Given the description of an element on the screen output the (x, y) to click on. 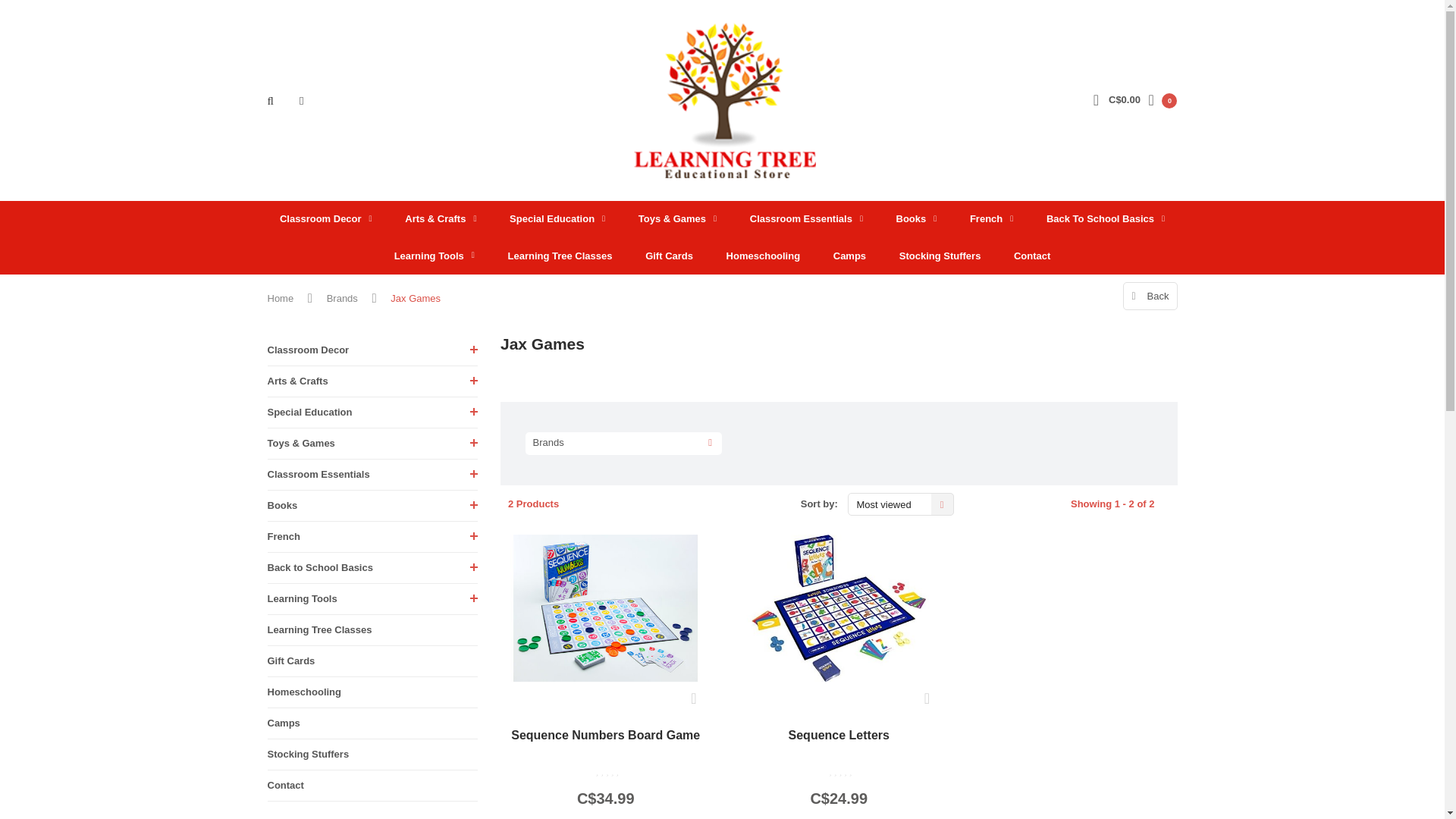
Jax Games Sequence Numbers Board Game (605, 607)
Jax Games Sequence Letters (838, 607)
Jax Games Sequence Letters (838, 744)
Jax Games Sequence Numbers Board Game (605, 744)
Home (280, 298)
